Given the description of an element on the screen output the (x, y) to click on. 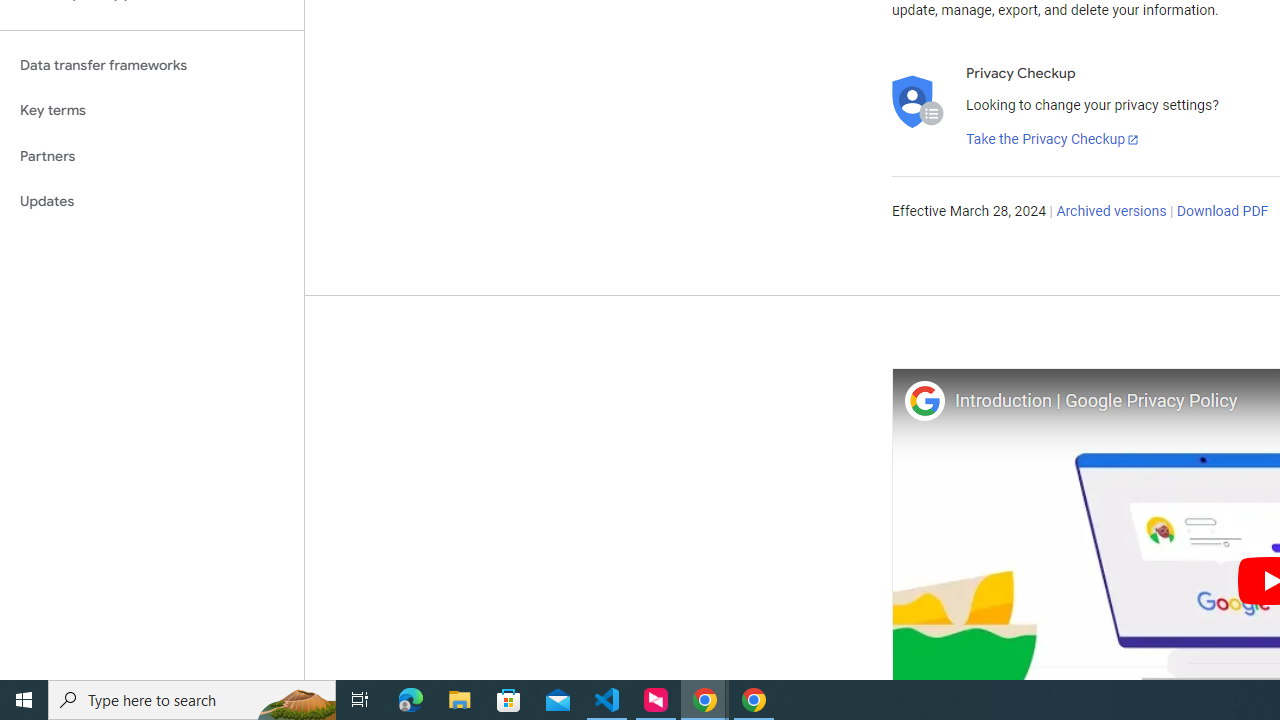
Data transfer frameworks (152, 65)
Photo image of Google (924, 400)
Download PDF (1222, 212)
Take the Privacy Checkup (1053, 140)
Key terms (152, 110)
Archived versions (1111, 212)
Partners (152, 156)
